Given the description of an element on the screen output the (x, y) to click on. 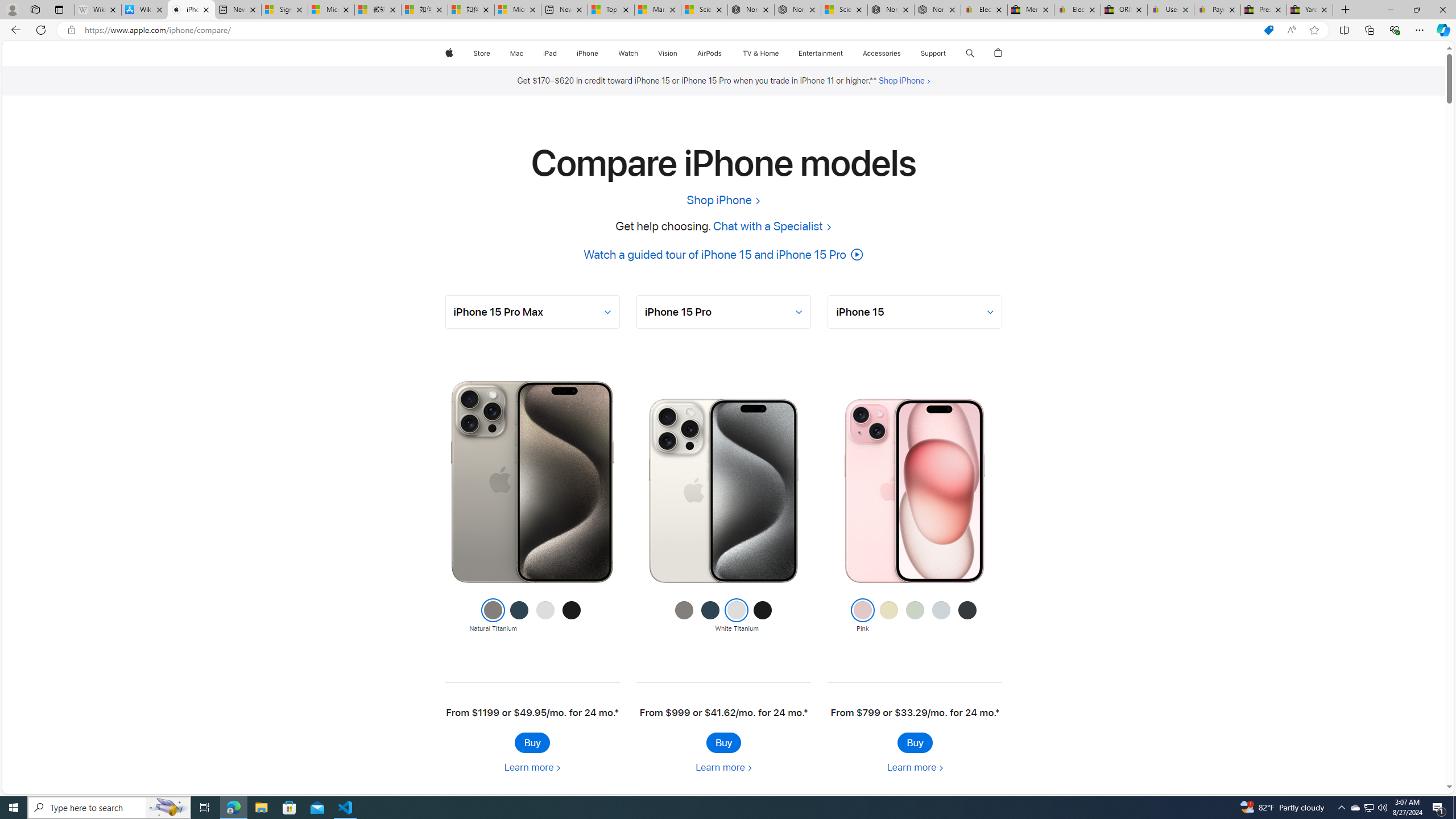
AirPods (709, 53)
TV and Home (759, 53)
Natural Titanium (684, 615)
Support (932, 53)
TV and Home menu (780, 53)
iPhone (587, 53)
iPad (550, 53)
iPad menu (557, 53)
Press Room - eBay Inc. (1263, 9)
AutomationID: selector-1 (723, 311)
Green (914, 615)
